Given the description of an element on the screen output the (x, y) to click on. 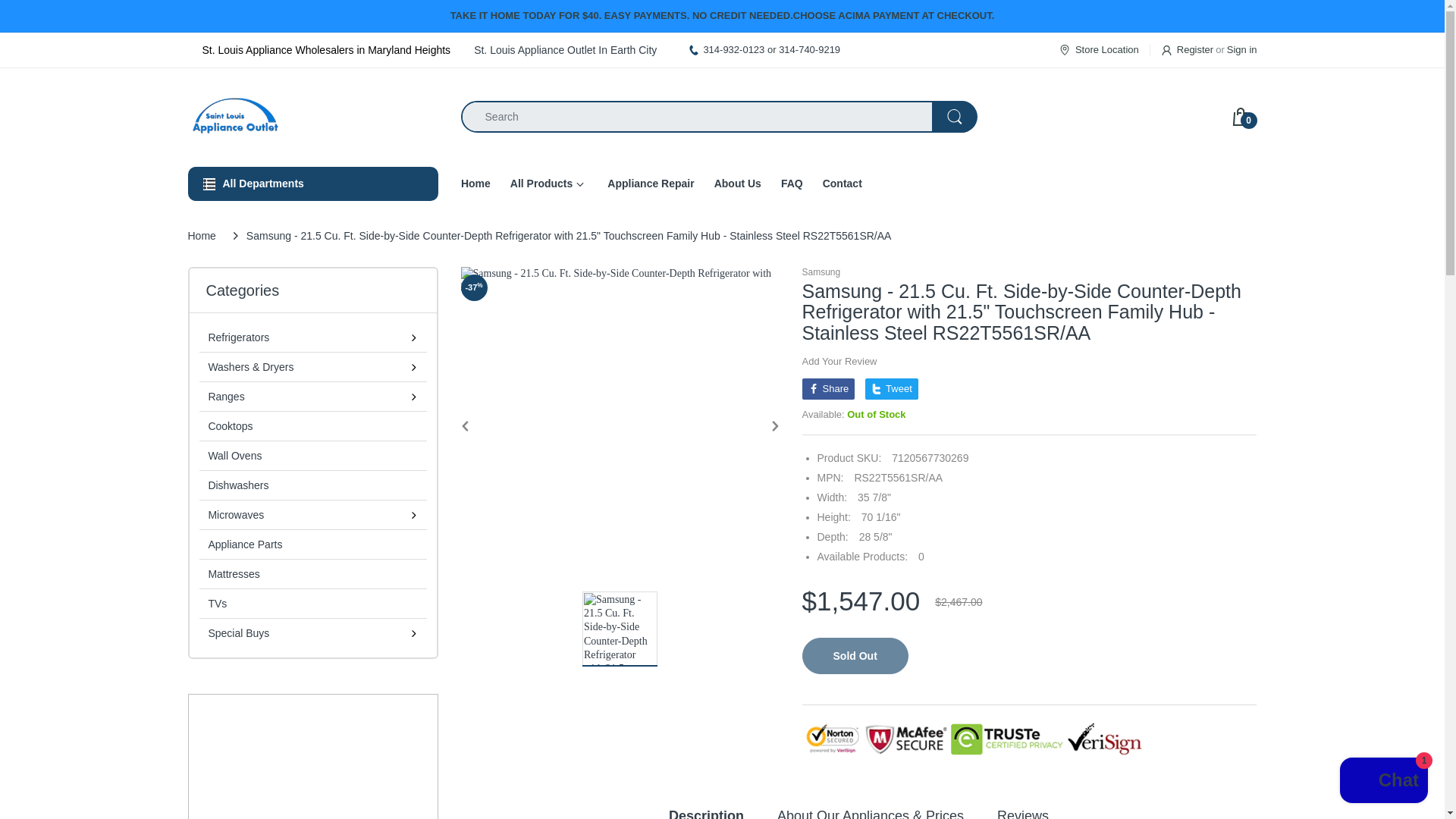
Twitter (891, 388)
Facebook (829, 388)
Sign in (1242, 49)
314-932-0123 (733, 49)
cart (1244, 116)
Register (1186, 49)
stlapplianceoutlet (312, 116)
Samsung (821, 271)
St. Louis Appliance Outlet In Earth City (565, 50)
